Given the description of an element on the screen output the (x, y) to click on. 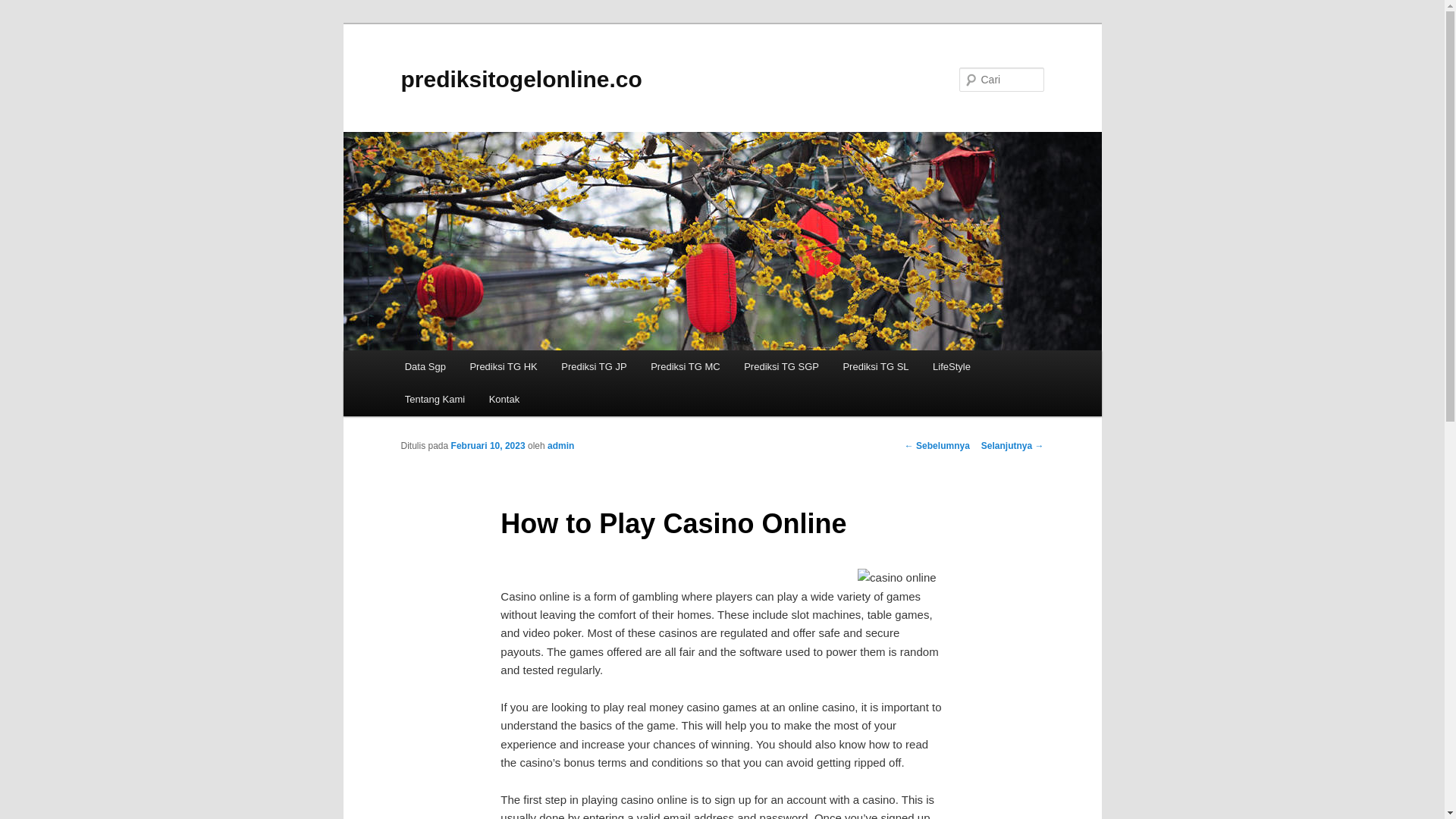
Data Sgp (425, 366)
Cari (16, 8)
admin (560, 445)
Lihat semua tulisan oleh admin (560, 445)
Prediksi TG HK (504, 366)
Februari 10, 2023 (488, 445)
Tentang Kami (435, 399)
LifeStyle (950, 366)
Kontak (504, 399)
Prediksi TG SGP (780, 366)
prediksitogelonline.co (521, 78)
Prediksi TG SL (876, 366)
Prediksi TG MC (685, 366)
Prediksi TG JP (593, 366)
